Given the description of an element on the screen output the (x, y) to click on. 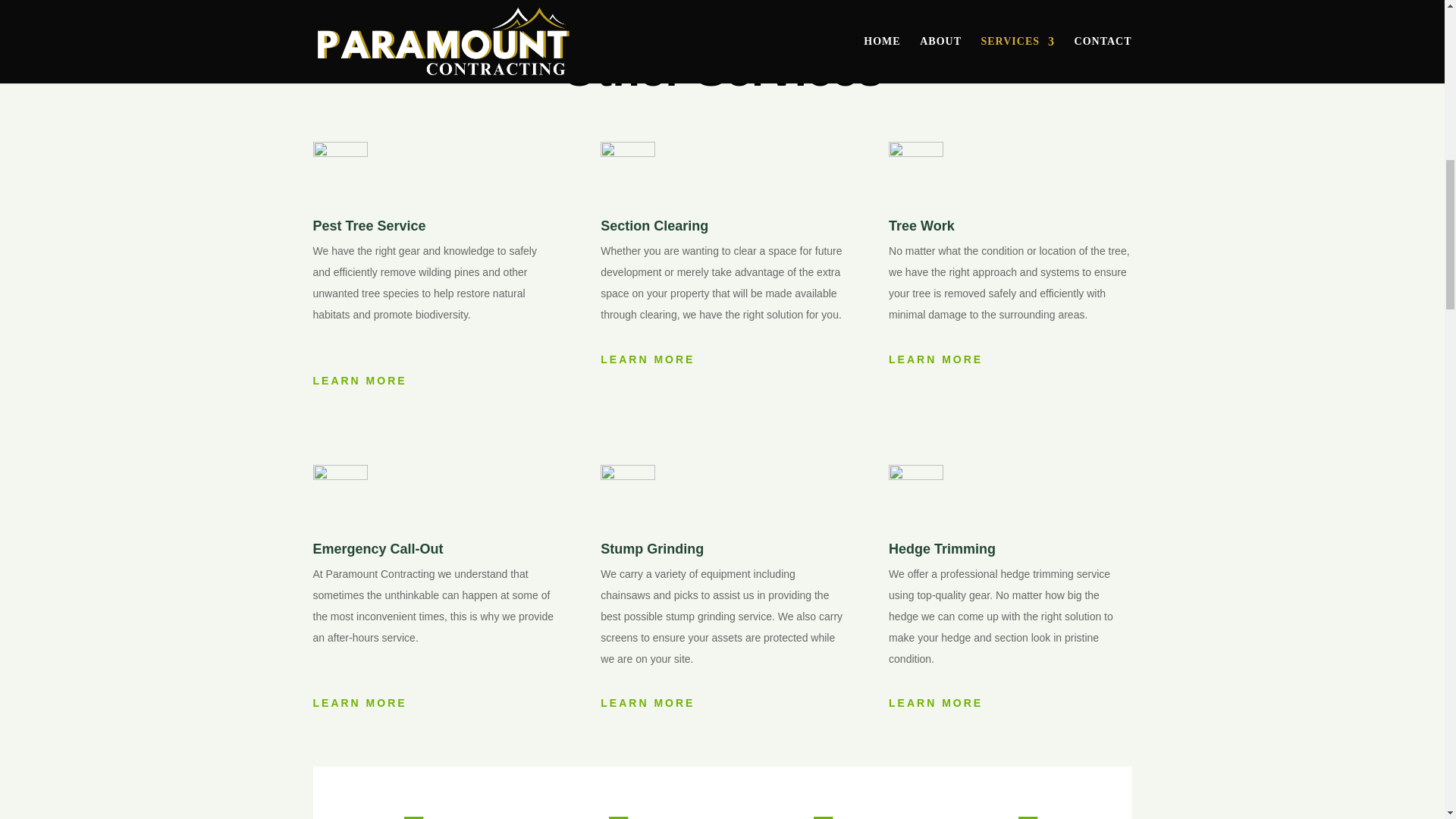
LEARN MORE (940, 703)
LEARN MORE (364, 703)
Emergency Call-Out (377, 548)
LEARN MORE (940, 359)
Tree Work (921, 225)
LEARN MORE (651, 359)
Pest Tree Service (369, 225)
Stump Grinding (651, 548)
LEARN MORE (651, 703)
LEARN MORE (364, 380)
